Given the description of an element on the screen output the (x, y) to click on. 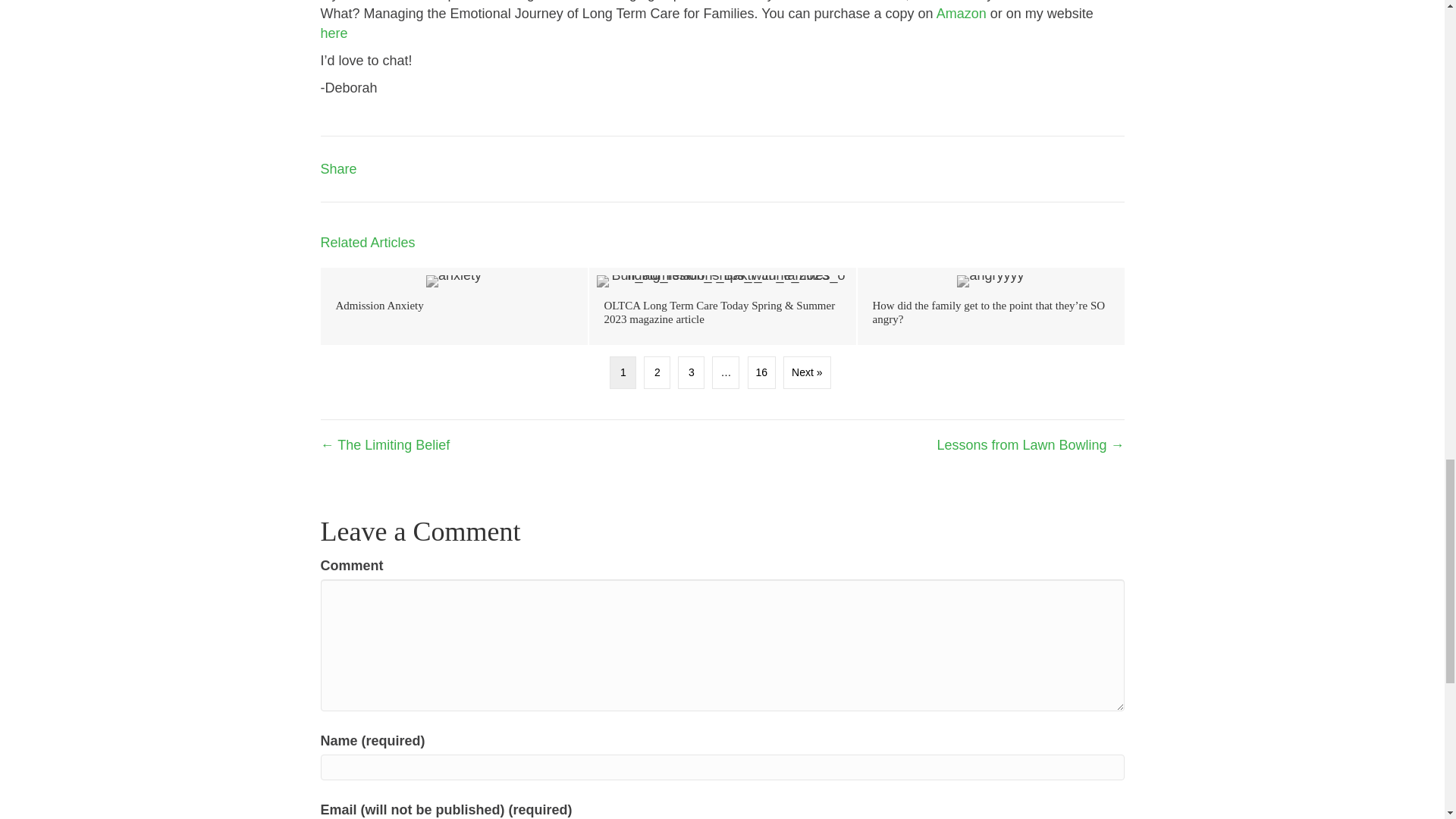
Amazon (961, 13)
angryyyy (989, 281)
here (333, 32)
anxiety (453, 281)
Admission Anxiety (453, 305)
